Given the description of an element on the screen output the (x, y) to click on. 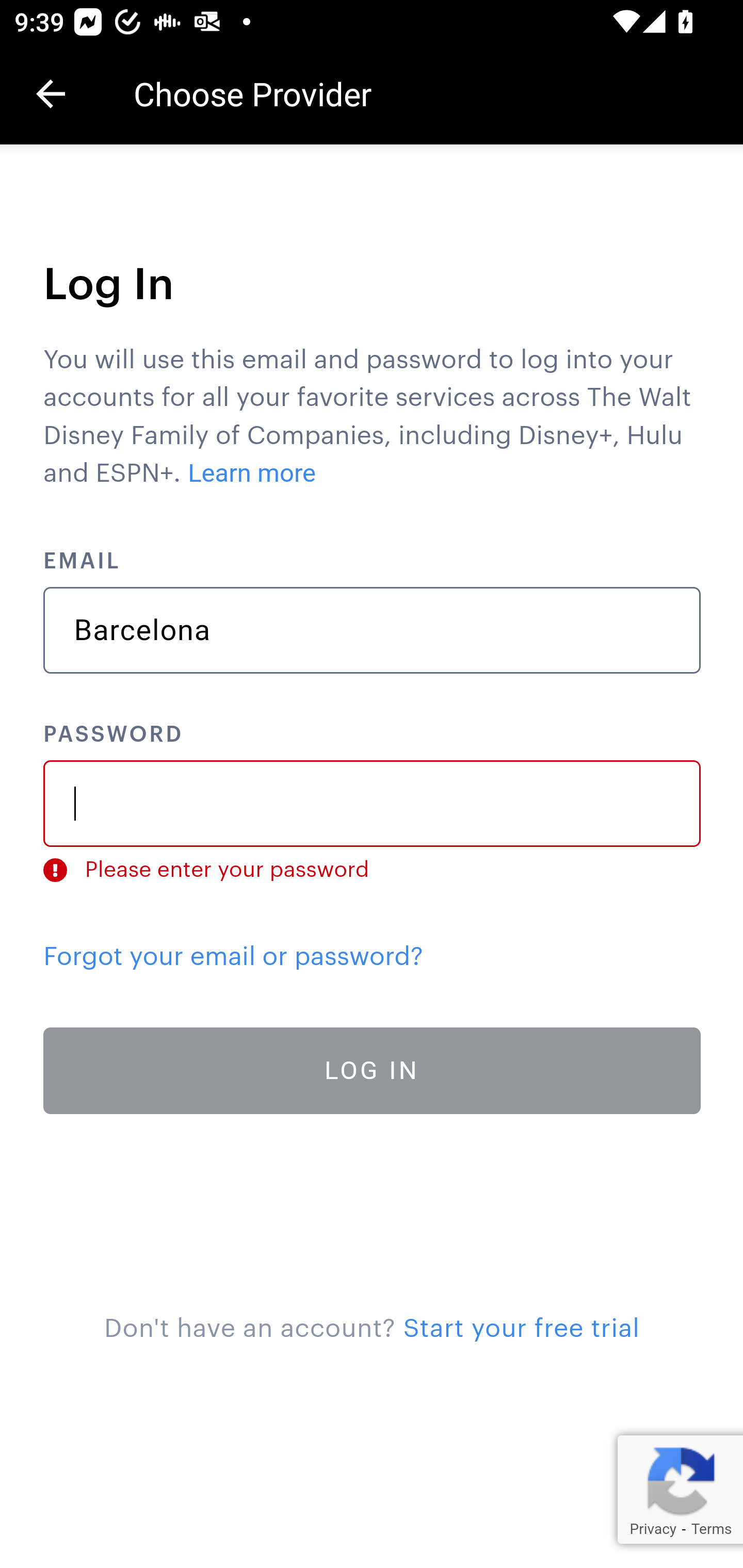
Navigate up (50, 93)
Learn more (252, 473)
Barcelona (372, 629)
Forgot your email or password? (233, 956)
LOG IN (372, 1070)
Start your free trial (521, 1328)
Privacy (652, 1528)
Terms (711, 1528)
